Given the description of an element on the screen output the (x, y) to click on. 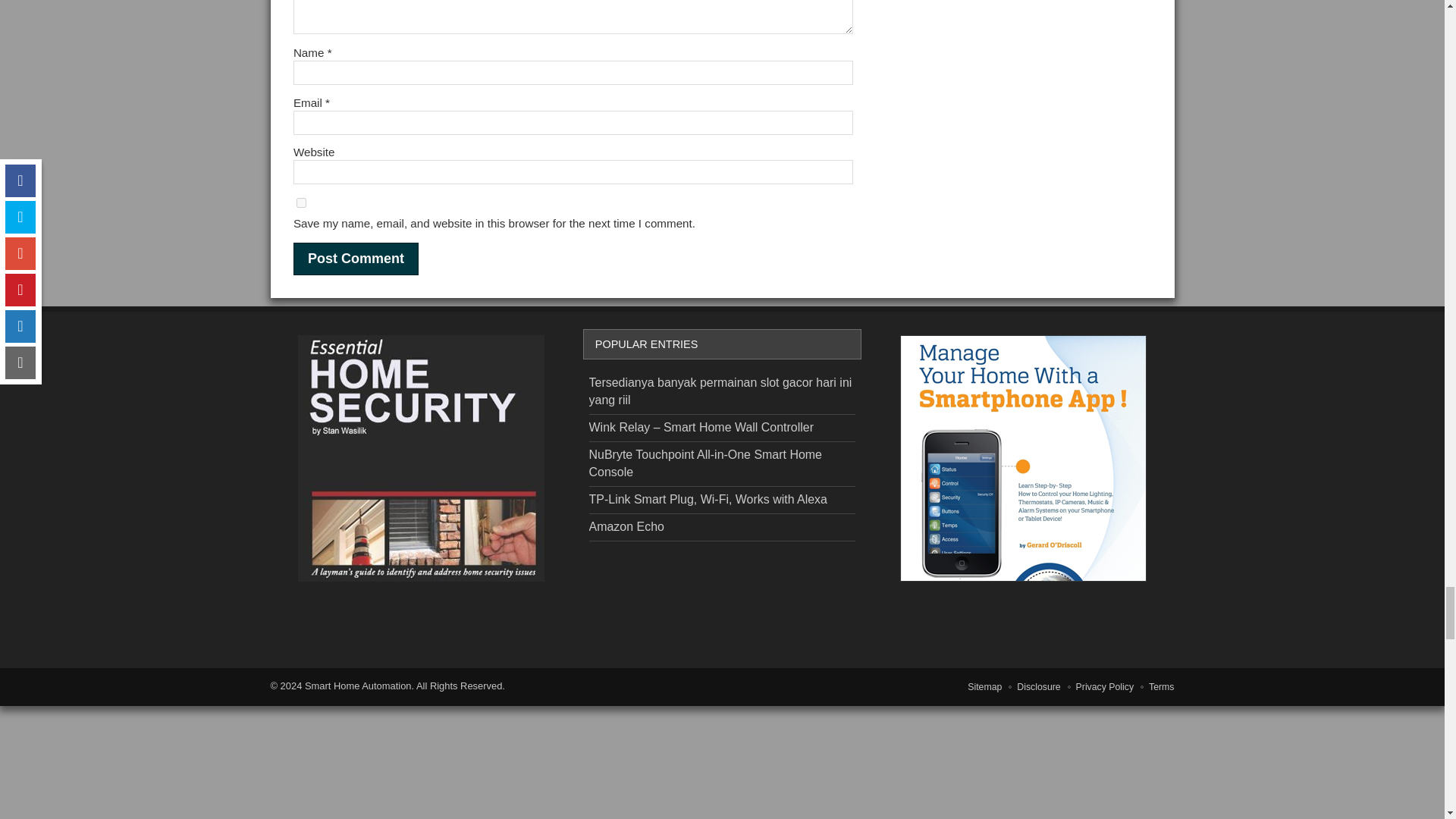
yes (301, 203)
Post Comment (356, 258)
